Given the description of an element on the screen output the (x, y) to click on. 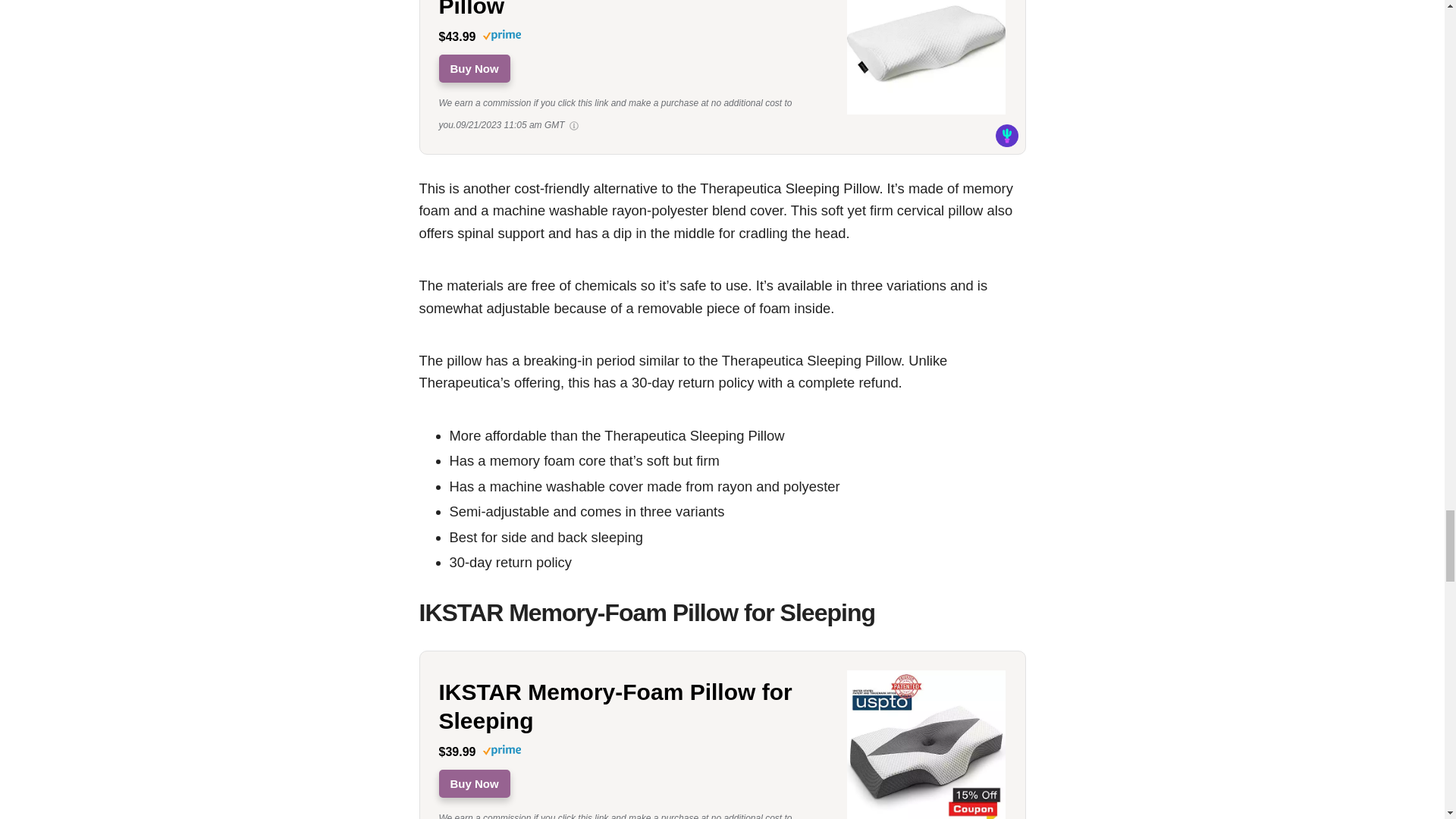
EPABO Contour Memory Foam Pillow (631, 9)
IKSTAR Memory-Foam Pillow for Sleeping (631, 706)
Buy Now (473, 68)
EPABO Contour Memory Foam Pillow (473, 68)
IKSTAR Memory-Foam Pillow for Sleeping (926, 817)
EPABO Contour Memory Foam Pillow (926, 113)
IKSTAR Memory-Foam Pillow for Sleeping (473, 783)
EPABO Contour Memory Foam Pillow (631, 9)
Buy Now (473, 783)
IKSTAR Memory-Foam Pillow for Sleeping (631, 706)
